Given the description of an element on the screen output the (x, y) to click on. 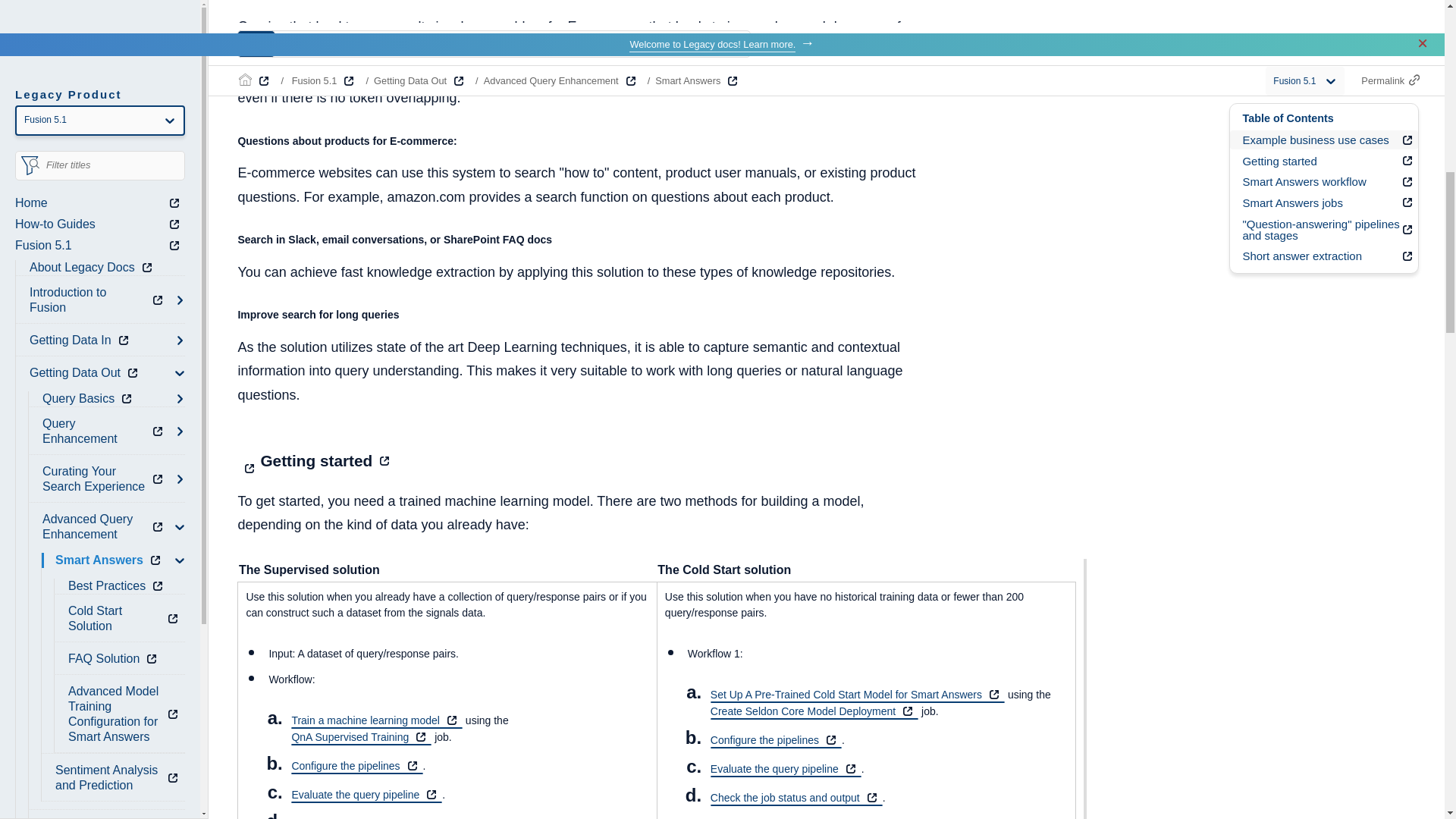
Reference (68, 114)
Sentiment Analysis and Prediction (119, 3)
Data Analytics (91, 40)
Developer Docs (83, 146)
Operations (70, 81)
Policies (47, 212)
Release Notes (80, 179)
